Given the description of an element on the screen output the (x, y) to click on. 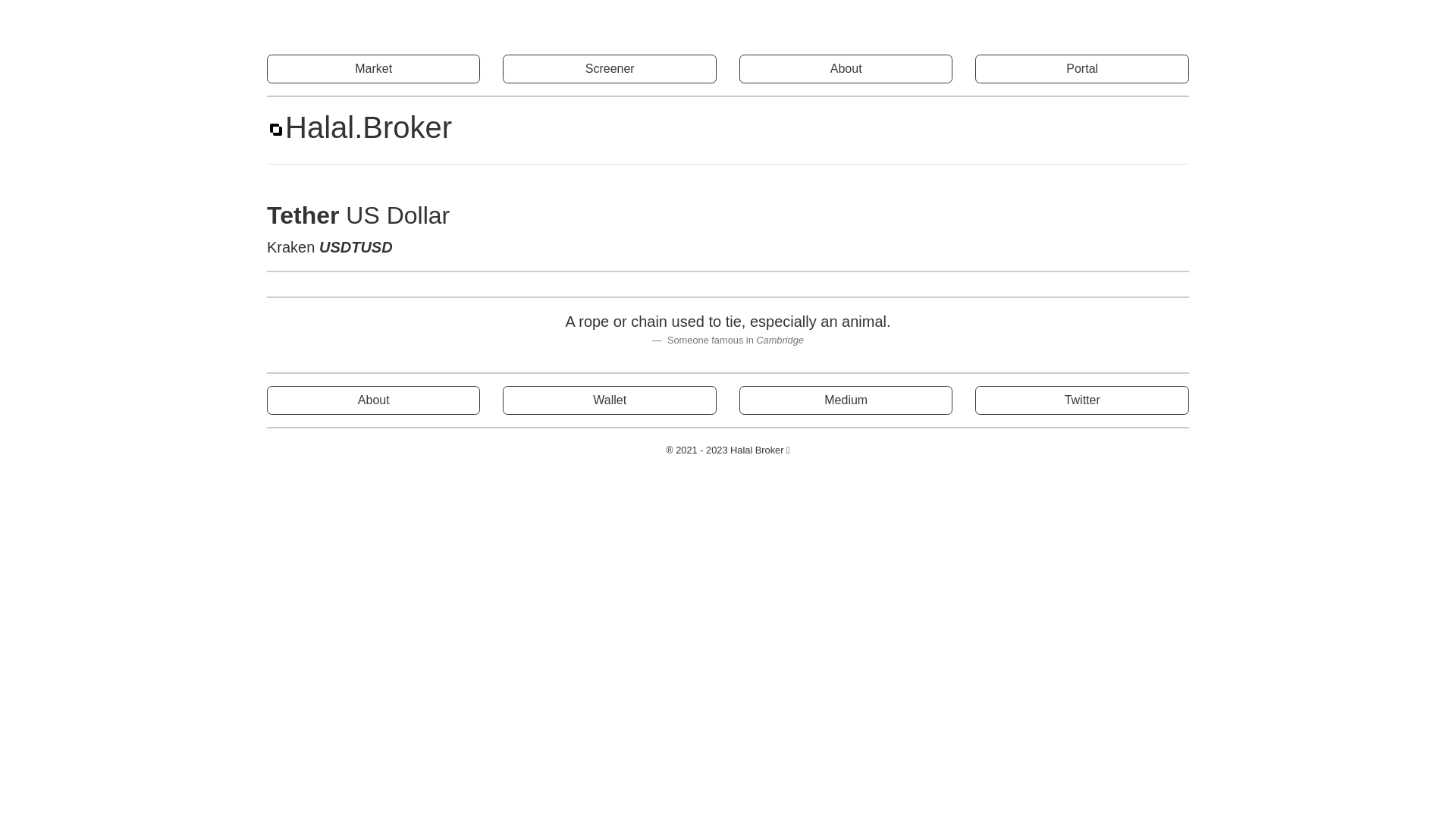
Halal Broker Element type: text (756, 449)
Portal Element type: text (1081, 68)
Screener Element type: text (608, 68)
Twitter Element type: text (1081, 399)
Halal.Broker Element type: text (358, 127)
Medium Element type: text (845, 399)
About Element type: text (373, 399)
Market Element type: text (373, 68)
About Element type: text (845, 68)
Wallet Element type: text (608, 399)
